Given the description of an element on the screen output the (x, y) to click on. 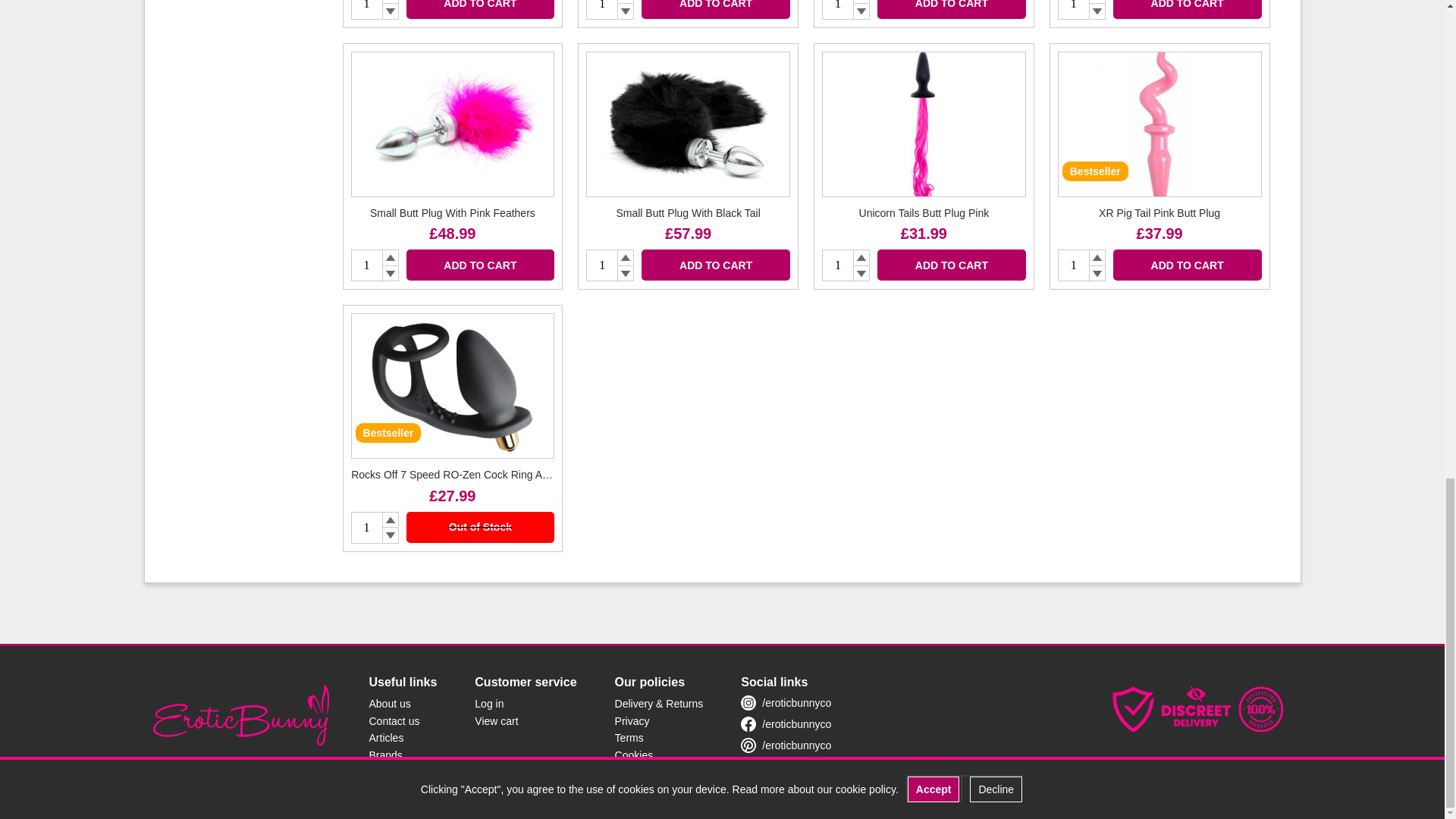
1 (601, 9)
1 (601, 265)
1 (365, 265)
1 (365, 9)
1 (1073, 9)
1 (365, 527)
1 (837, 265)
1 (837, 9)
1 (1073, 265)
